Given the description of an element on the screen output the (x, y) to click on. 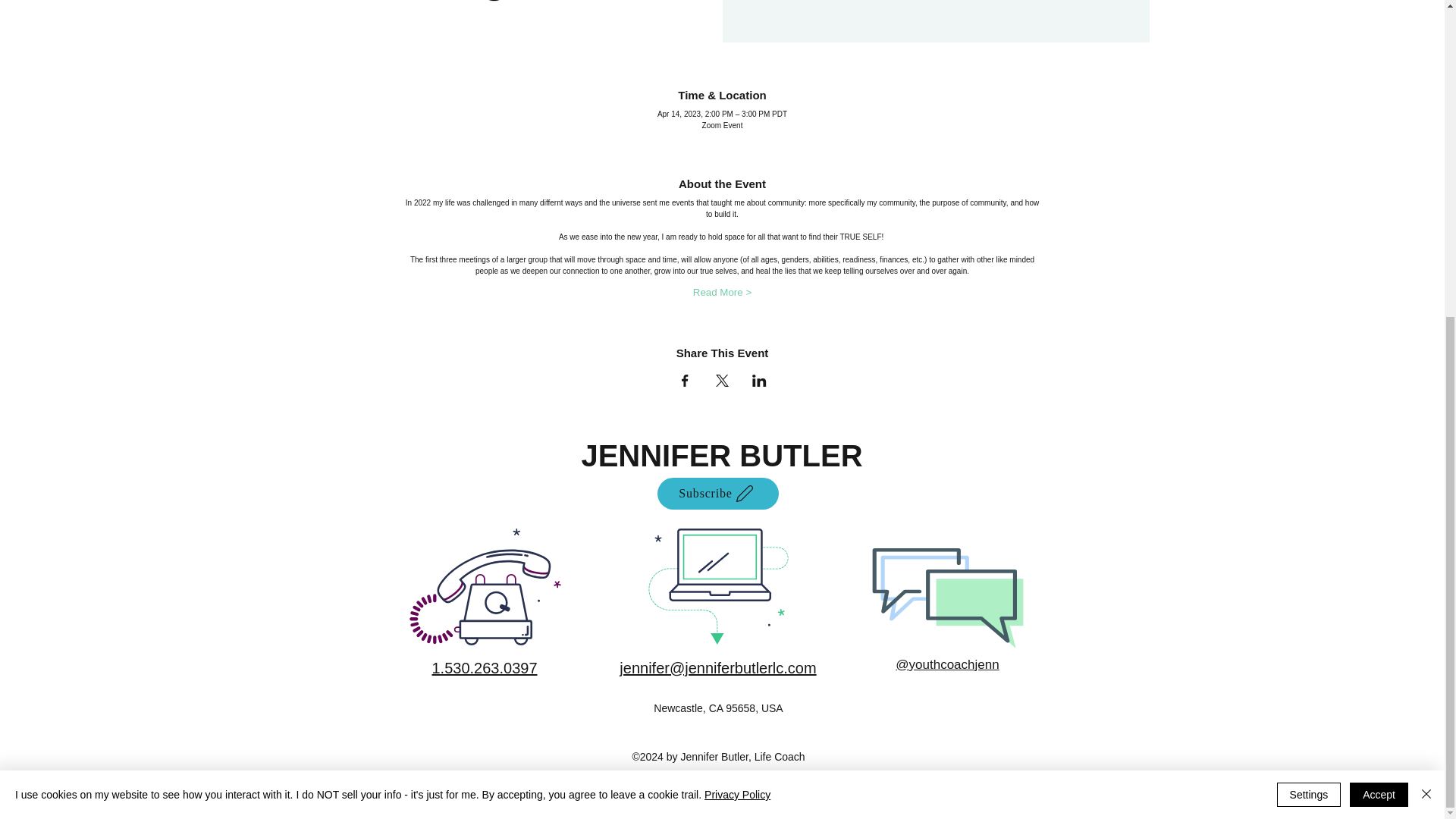
Settings (1308, 284)
1.530.263.0397 (483, 668)
Visitor Analytics (493, 659)
Accept (1378, 284)
JENNIFER BUTLER (720, 455)
Privacy Policy (737, 285)
Subscribe (716, 493)
